Given the description of an element on the screen output the (x, y) to click on. 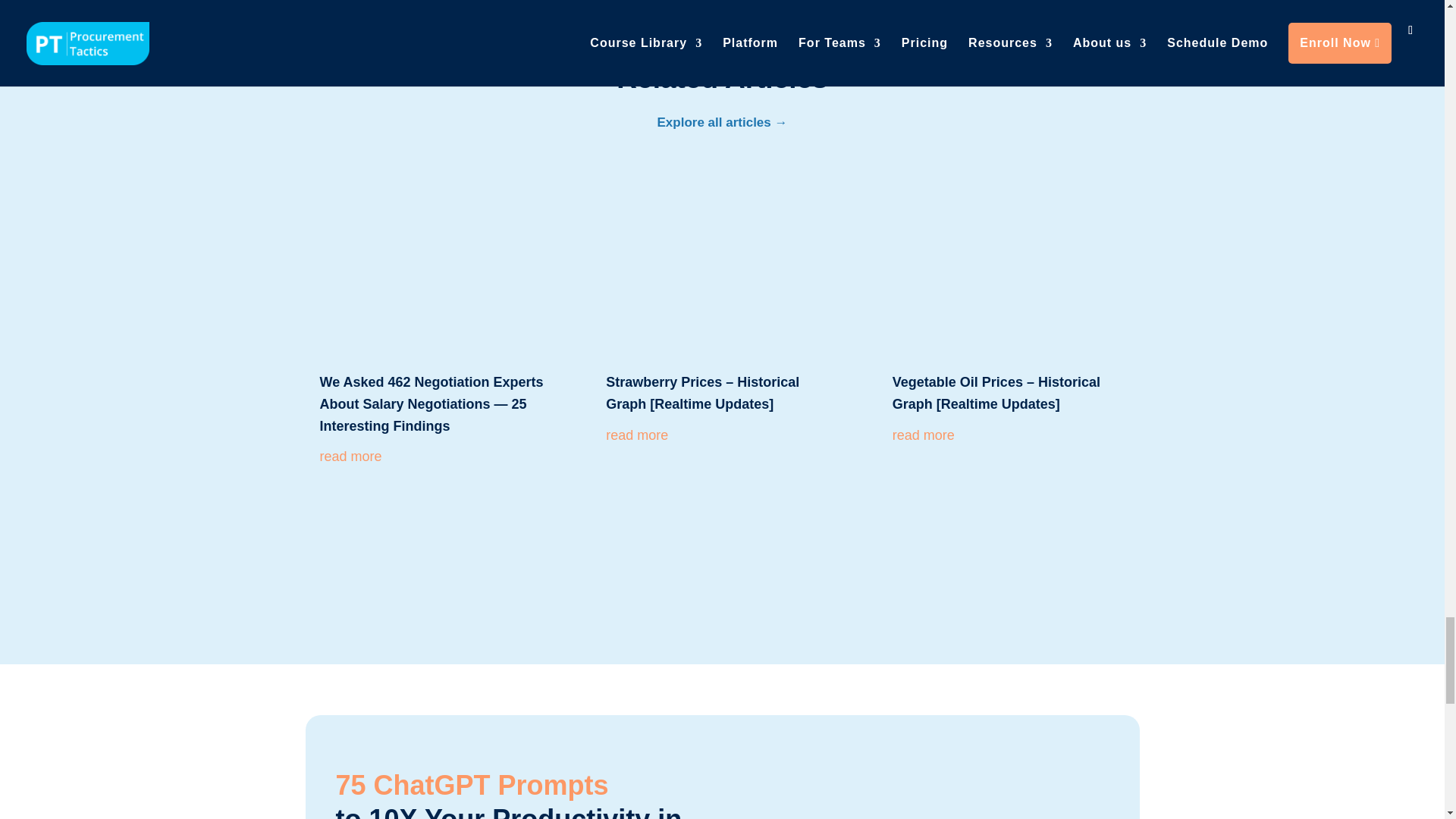
Marijn Footer ChatGPT (976, 774)
